Given the description of an element on the screen output the (x, y) to click on. 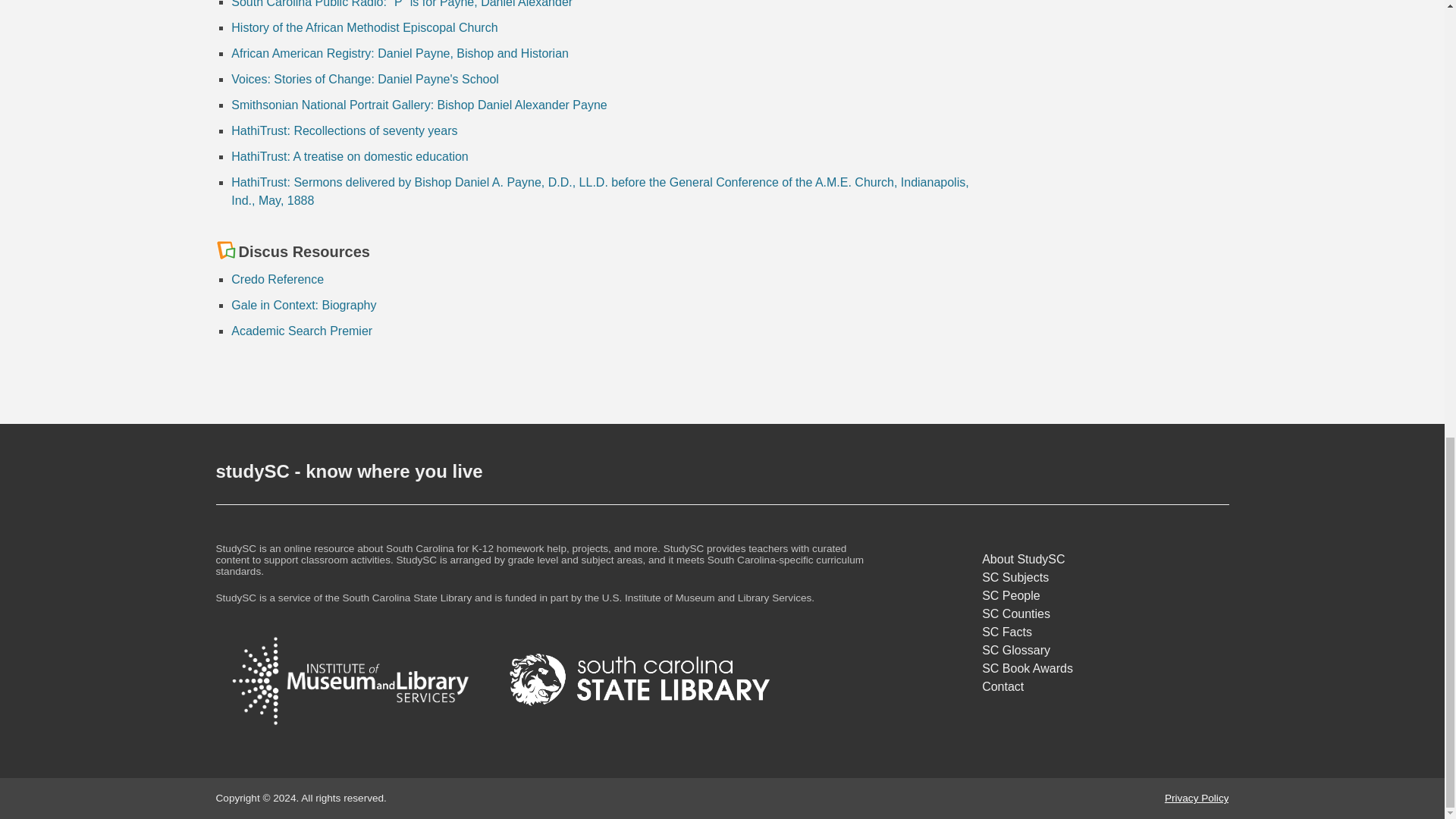
History of the African Methodist Episcopal Church (364, 27)
HathiTrust: Recollections of seventy years (344, 130)
Academic Search Premier (301, 330)
Gale in Context: Biography (303, 305)
Credo Reference (277, 278)
Voices: Stories of Change: Daniel Payne's School (365, 78)
HathiTrust: A treatise on domestic education (349, 155)
